Given the description of an element on the screen output the (x, y) to click on. 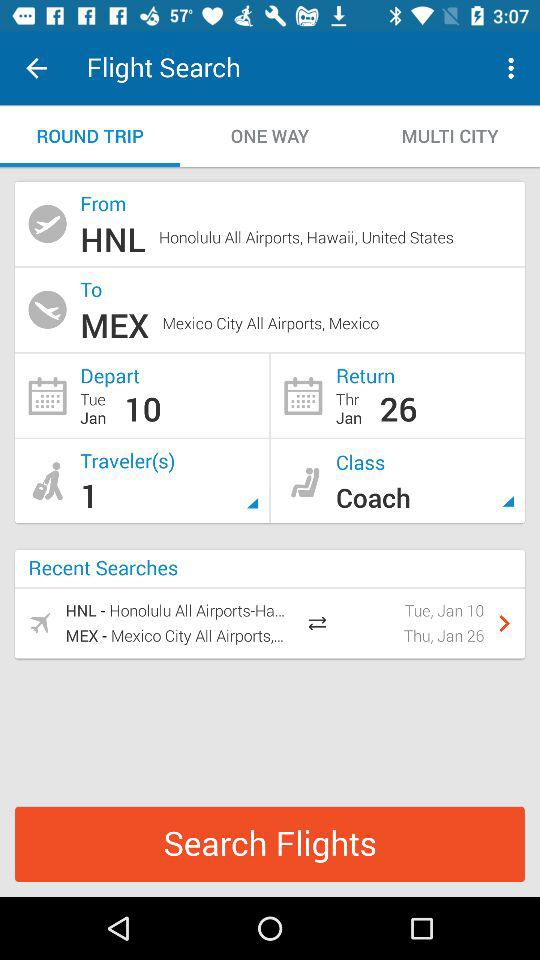
jump to the search flights (269, 843)
